Given the description of an element on the screen output the (x, y) to click on. 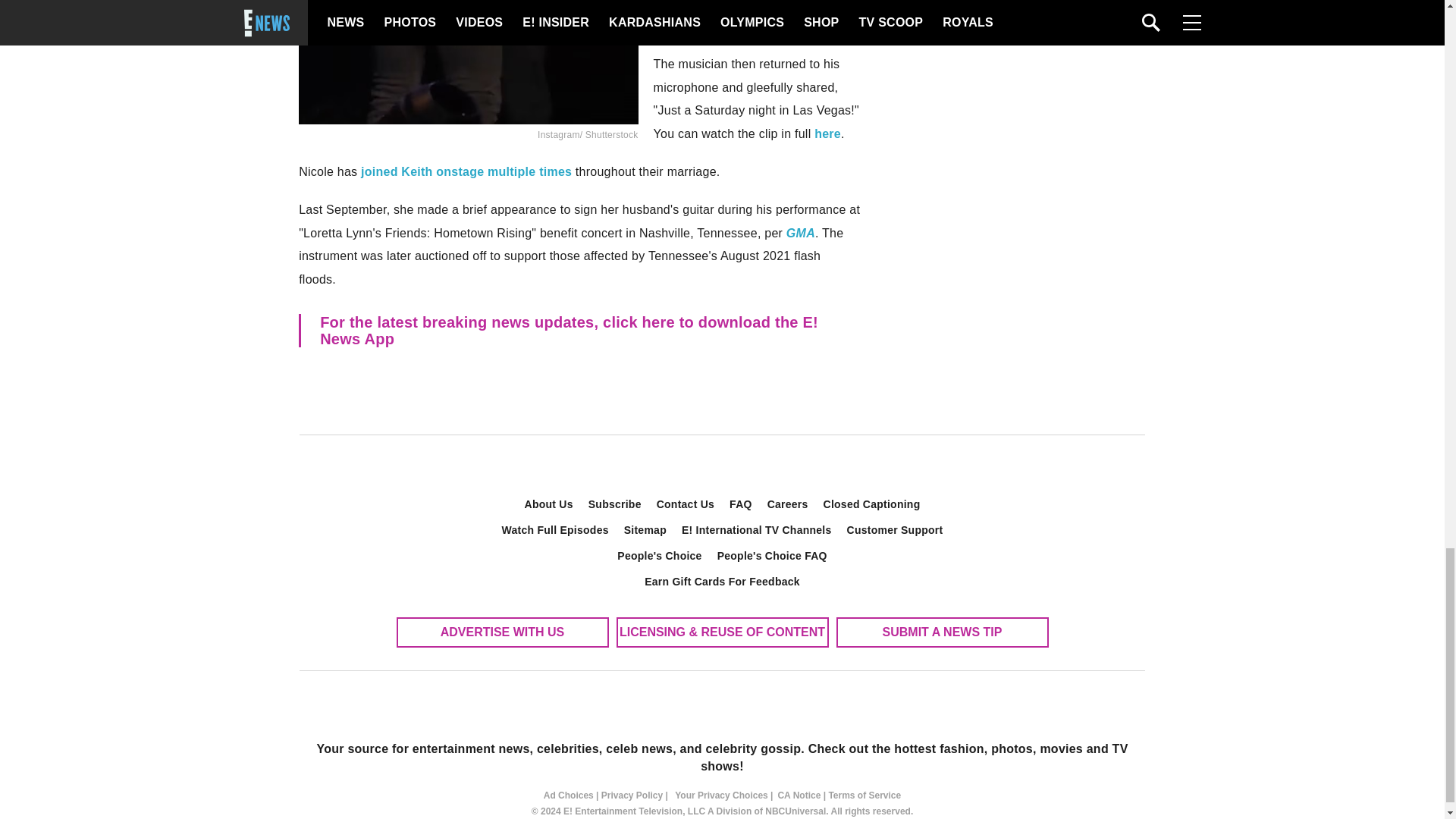
GMA (800, 232)
joined Keith onstage multiple times (464, 171)
here (827, 133)
